Given the description of an element on the screen output the (x, y) to click on. 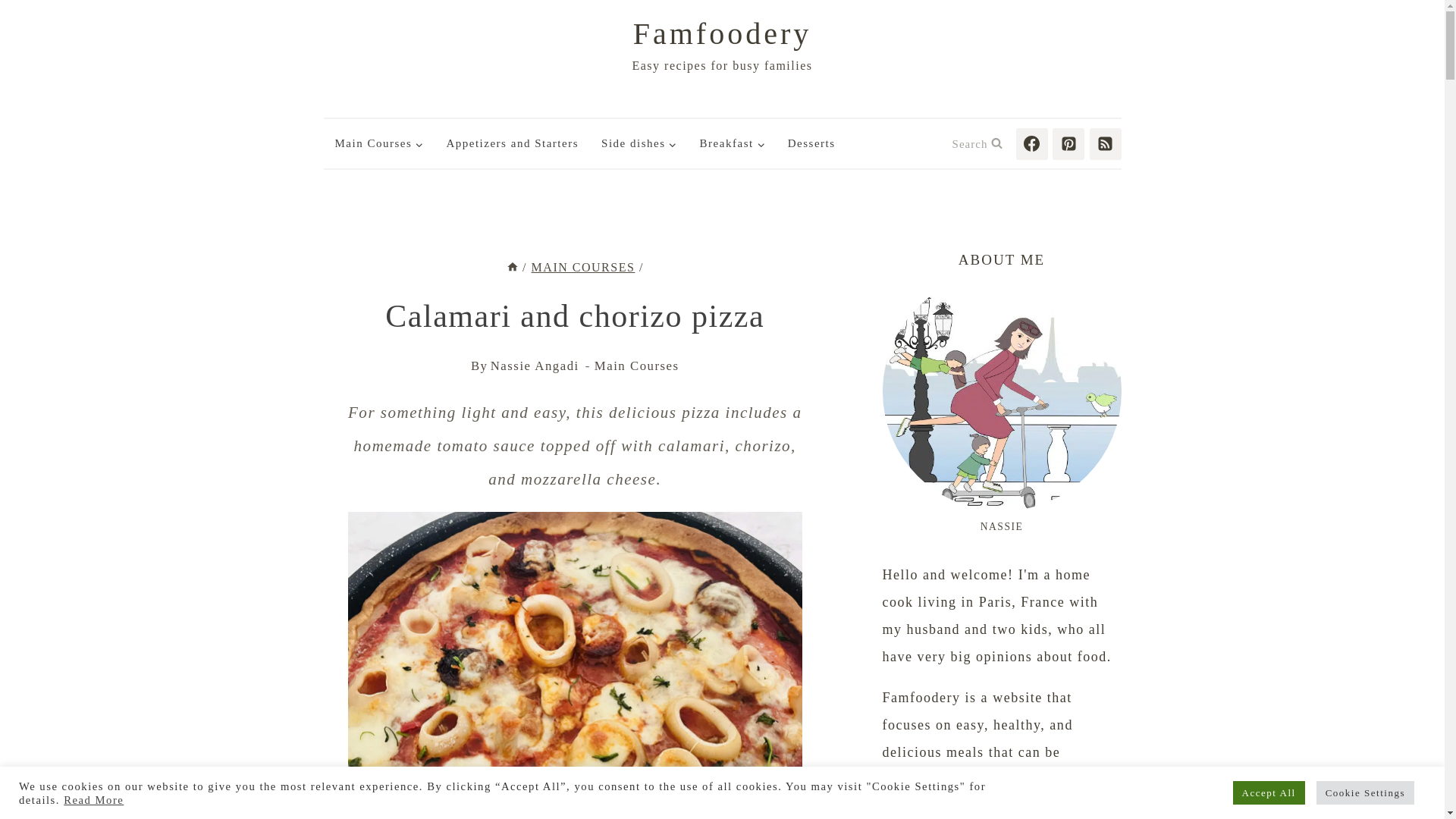
Main Courses (636, 365)
Side dishes (638, 143)
Search (977, 143)
Home (512, 267)
MAIN COURSES (582, 267)
Nassie Angadi (534, 365)
Desserts (811, 143)
Main Courses (378, 143)
Breakfast (732, 143)
